Given the description of an element on the screen output the (x, y) to click on. 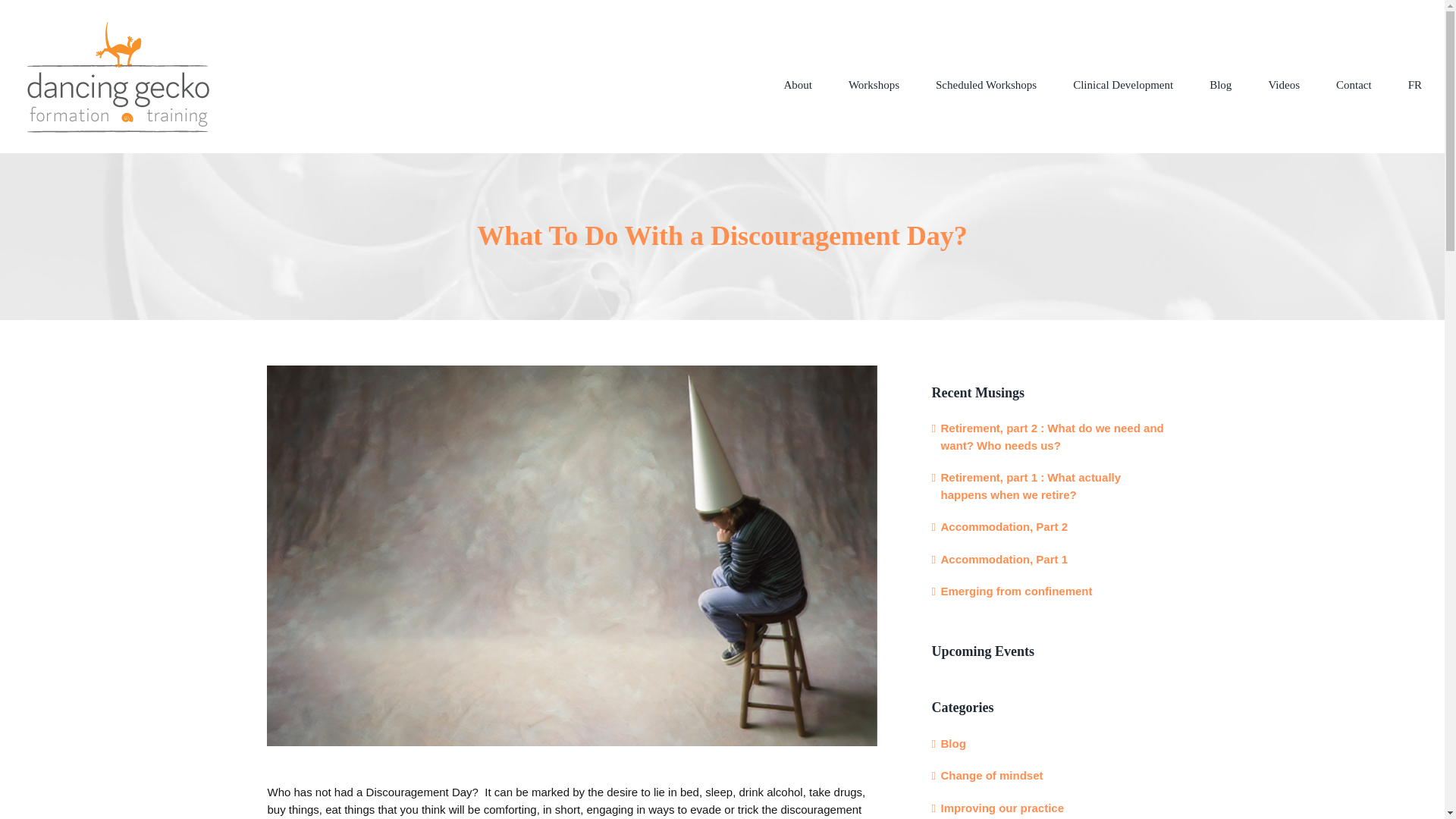
Clinical Development (1123, 85)
Scheduled Workshops (986, 85)
